Given the description of an element on the screen output the (x, y) to click on. 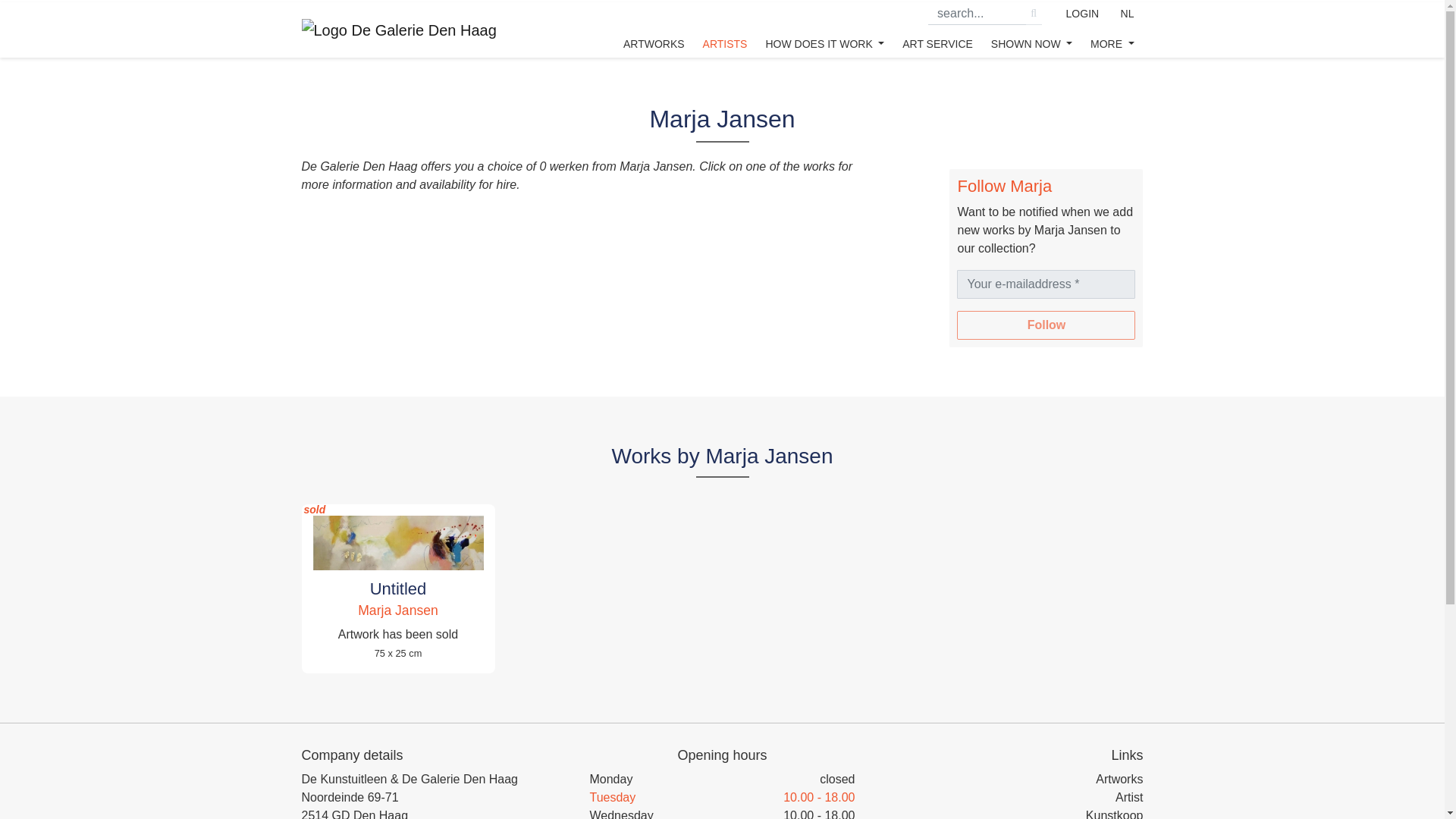
Untitled (397, 588)
Artist (1128, 797)
Marja Jansen (398, 610)
Follow (1045, 325)
ARTISTS (725, 29)
Kunstkoop (1114, 814)
HOW DOES IT WORK (824, 29)
NL (1127, 13)
SHOWN NOW (1031, 29)
ARTWORKS (654, 29)
Artworks (1119, 779)
LOGIN (1082, 13)
MORE (1111, 29)
ART SERVICE (937, 29)
Dutch (1127, 13)
